Given the description of an element on the screen output the (x, y) to click on. 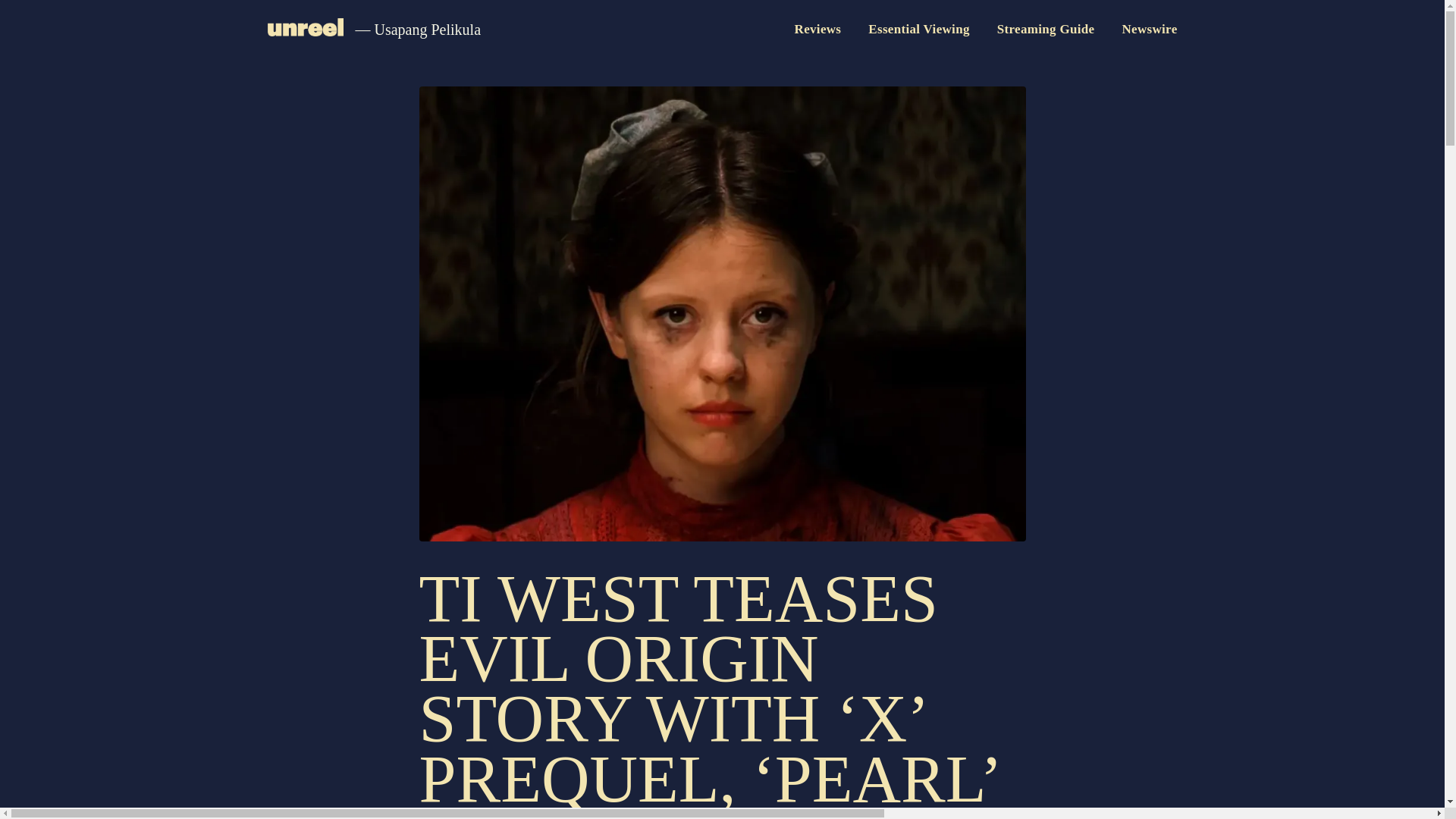
Streaming Guide (1045, 29)
Reviews (817, 29)
Newswire (1148, 29)
Essential Viewing (918, 29)
